Given the description of an element on the screen output the (x, y) to click on. 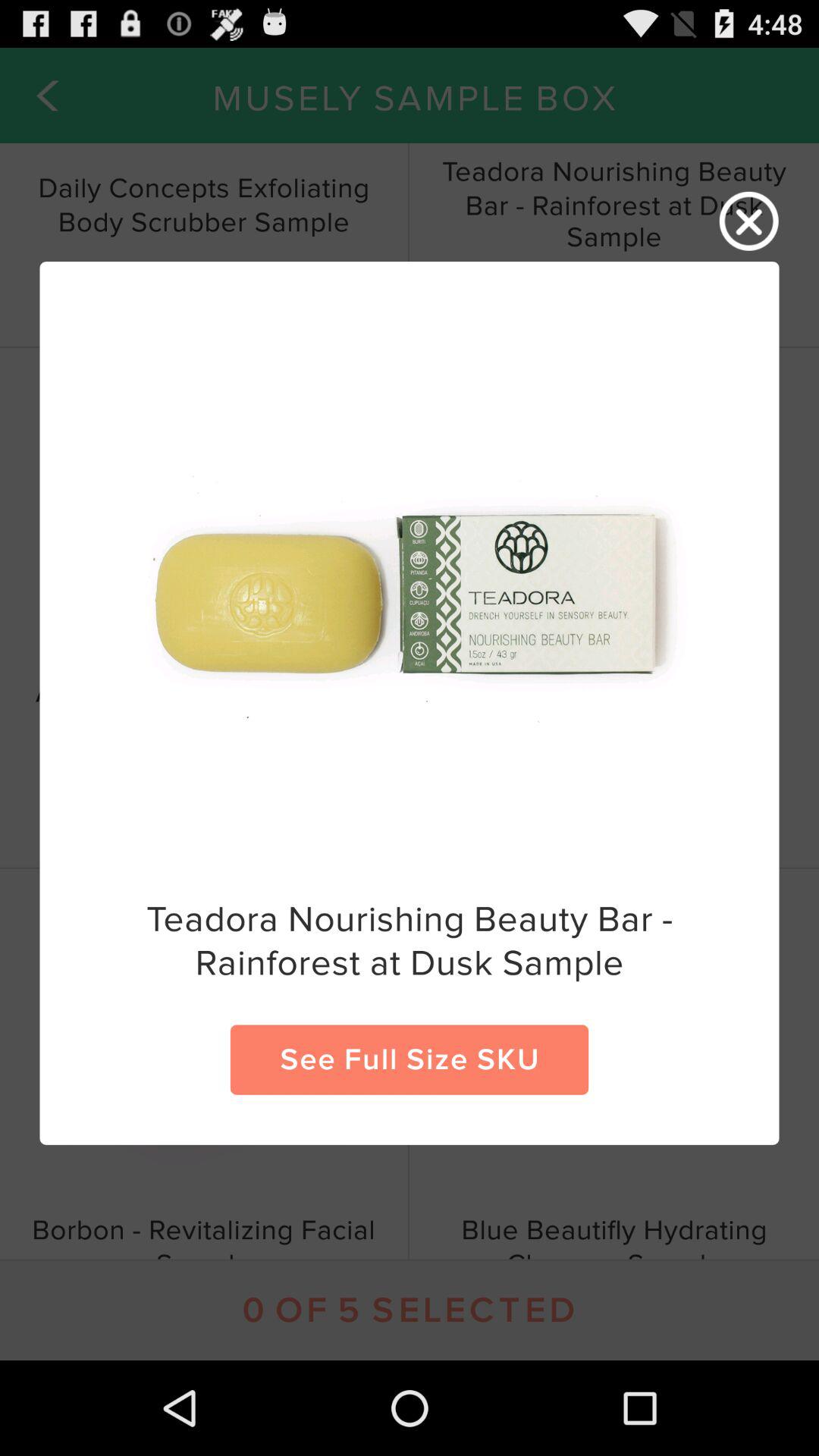
turn off icon at the bottom (409, 1059)
